Given the description of an element on the screen output the (x, y) to click on. 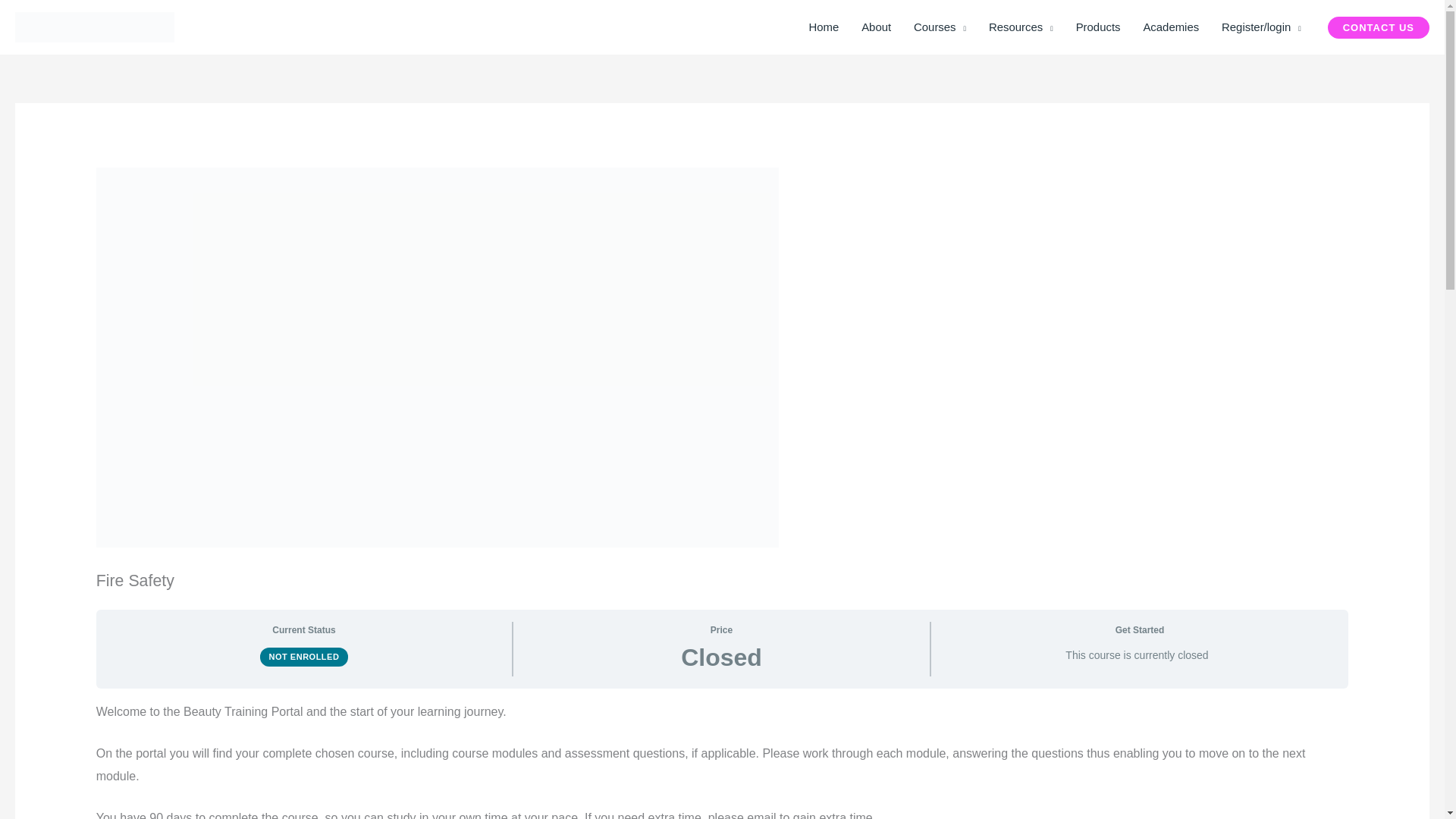
Courses (939, 27)
Resources (1020, 27)
Academies (1170, 27)
Products (1098, 27)
CONTACT US (1378, 27)
Home (823, 27)
About (876, 27)
